Given the description of an element on the screen output the (x, y) to click on. 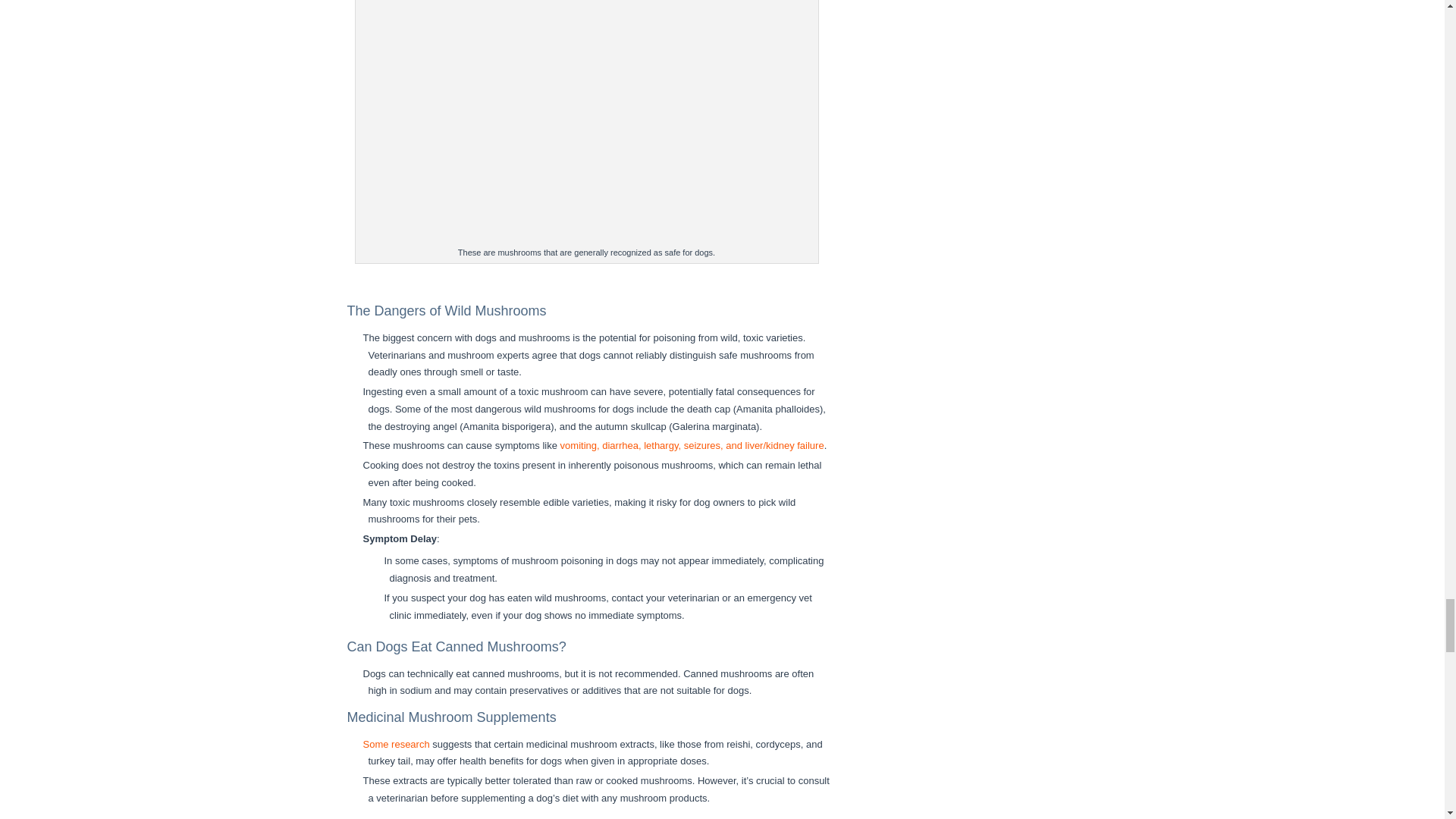
Some research (395, 744)
